Given the description of an element on the screen output the (x, y) to click on. 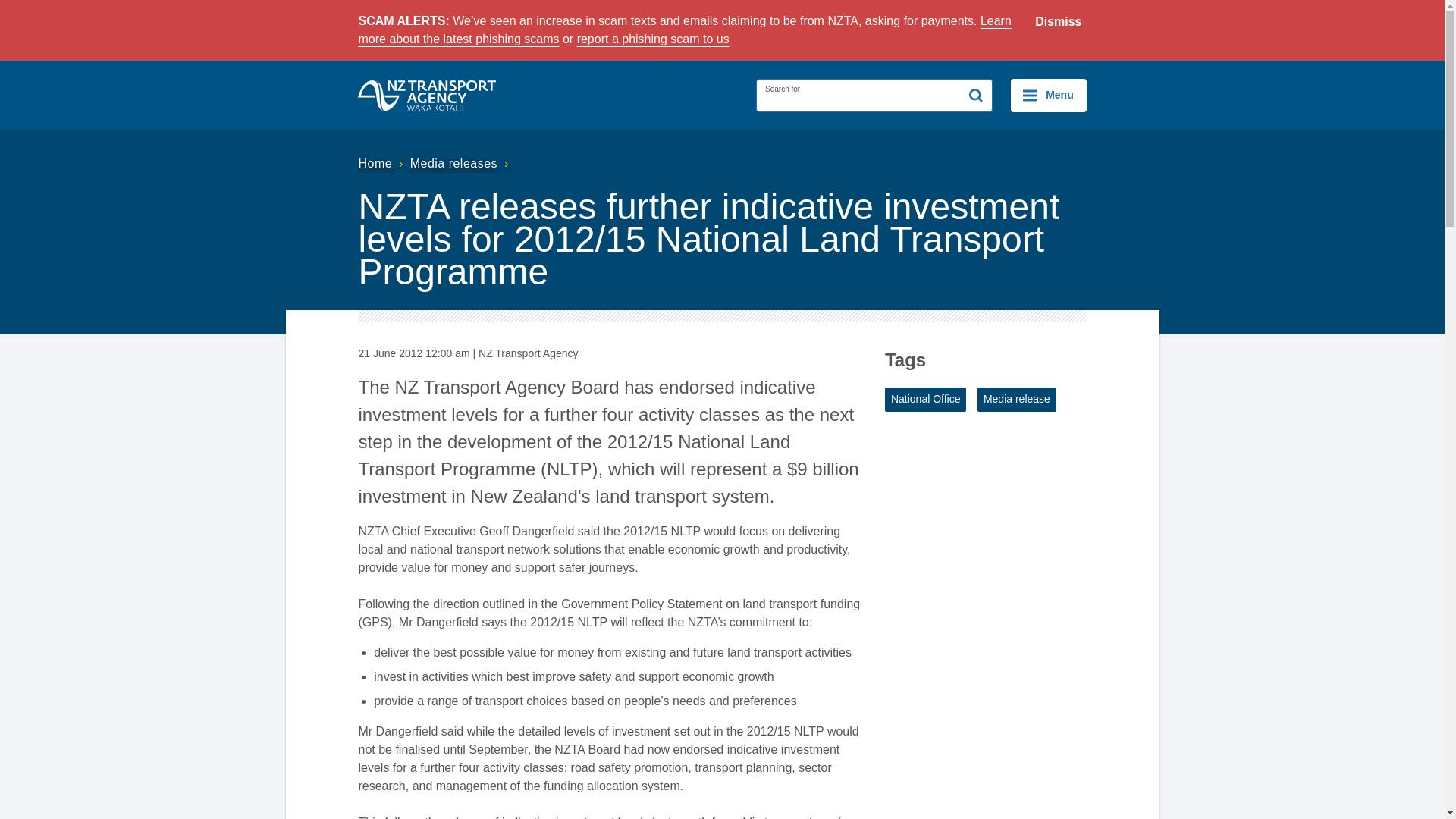
Learn more about the latest phishing scams (684, 29)
report a phishing scam to us (652, 38)
NZ Transport Agency Waka Kotahi (427, 95)
View all posts tagged 'Media release' (1016, 399)
Dismiss (1058, 21)
Home (382, 163)
Menu (1048, 95)
View all posts tagged 'National Office' (925, 399)
Media releases (461, 163)
